Given the description of an element on the screen output the (x, y) to click on. 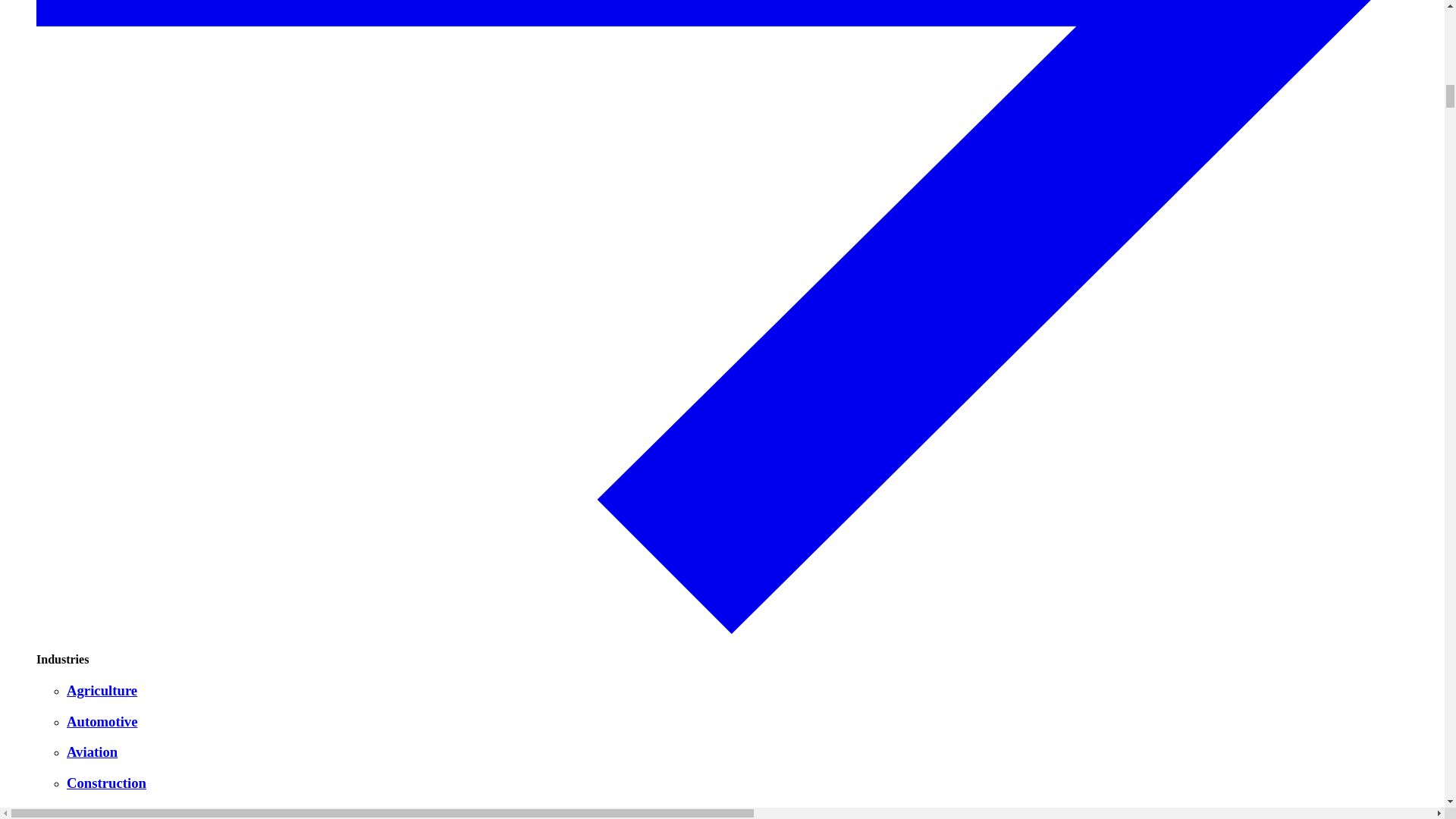
Agriculture (752, 690)
Automotive (752, 721)
Aviation (752, 751)
Construction (752, 782)
